Given the description of an element on the screen output the (x, y) to click on. 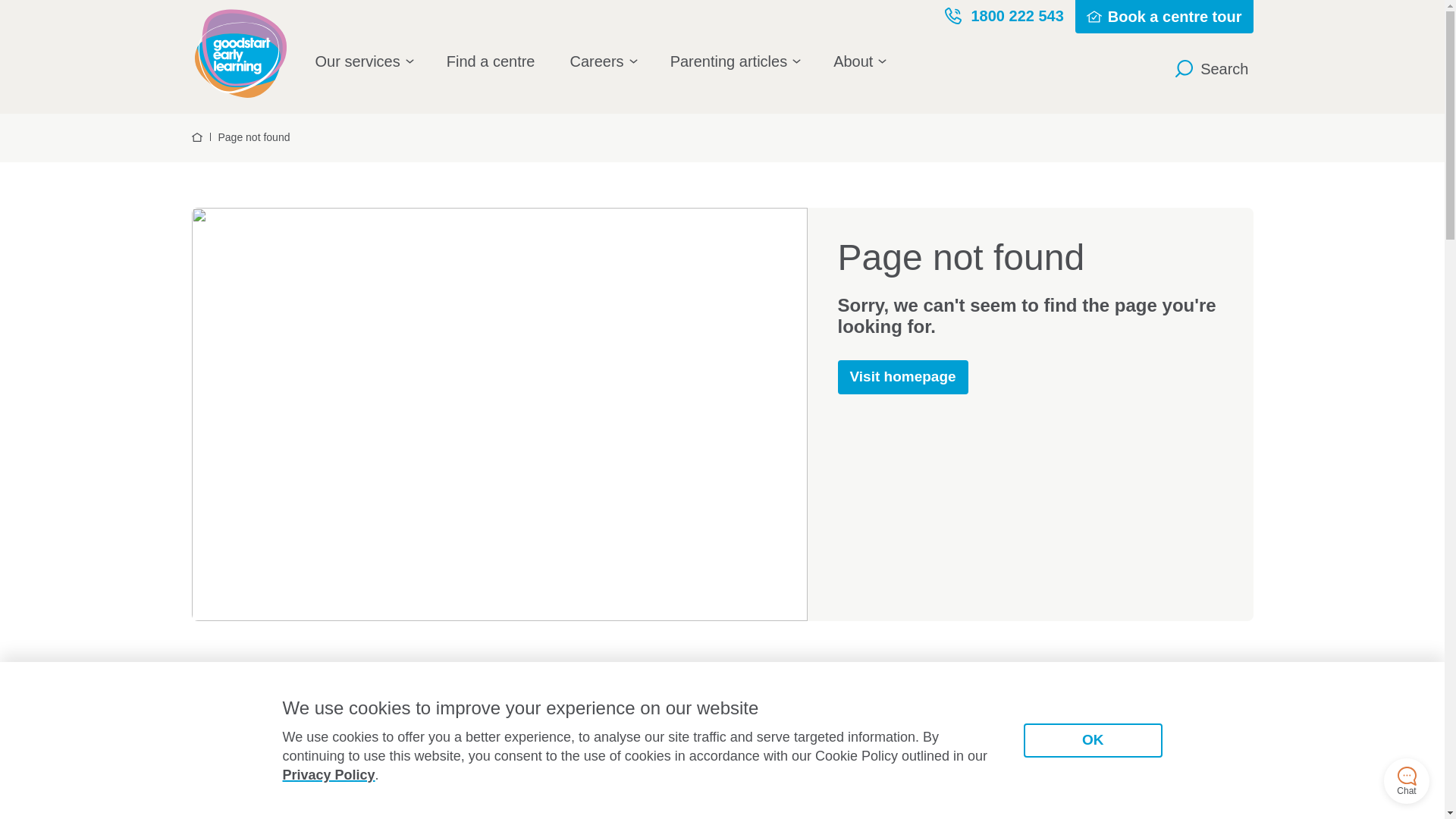
OK Element type: text (1092, 740)
Find a centre Element type: text (490, 61)
Book a centre tour Element type: text (1164, 16)
Search Element type: text (1206, 68)
Chat Element type: text (1406, 780)
Parenting articles Element type: text (734, 61)
About Element type: text (858, 61)
Careers Element type: text (601, 61)
Visit homepage Element type: text (902, 377)
Our services Element type: text (363, 61)
Privacy Policy Element type: text (328, 774)
1800 222 543 Element type: text (1003, 15)
Goodstart homepage Element type: text (244, 51)
Home Element type: text (196, 138)
